Given the description of an element on the screen output the (x, y) to click on. 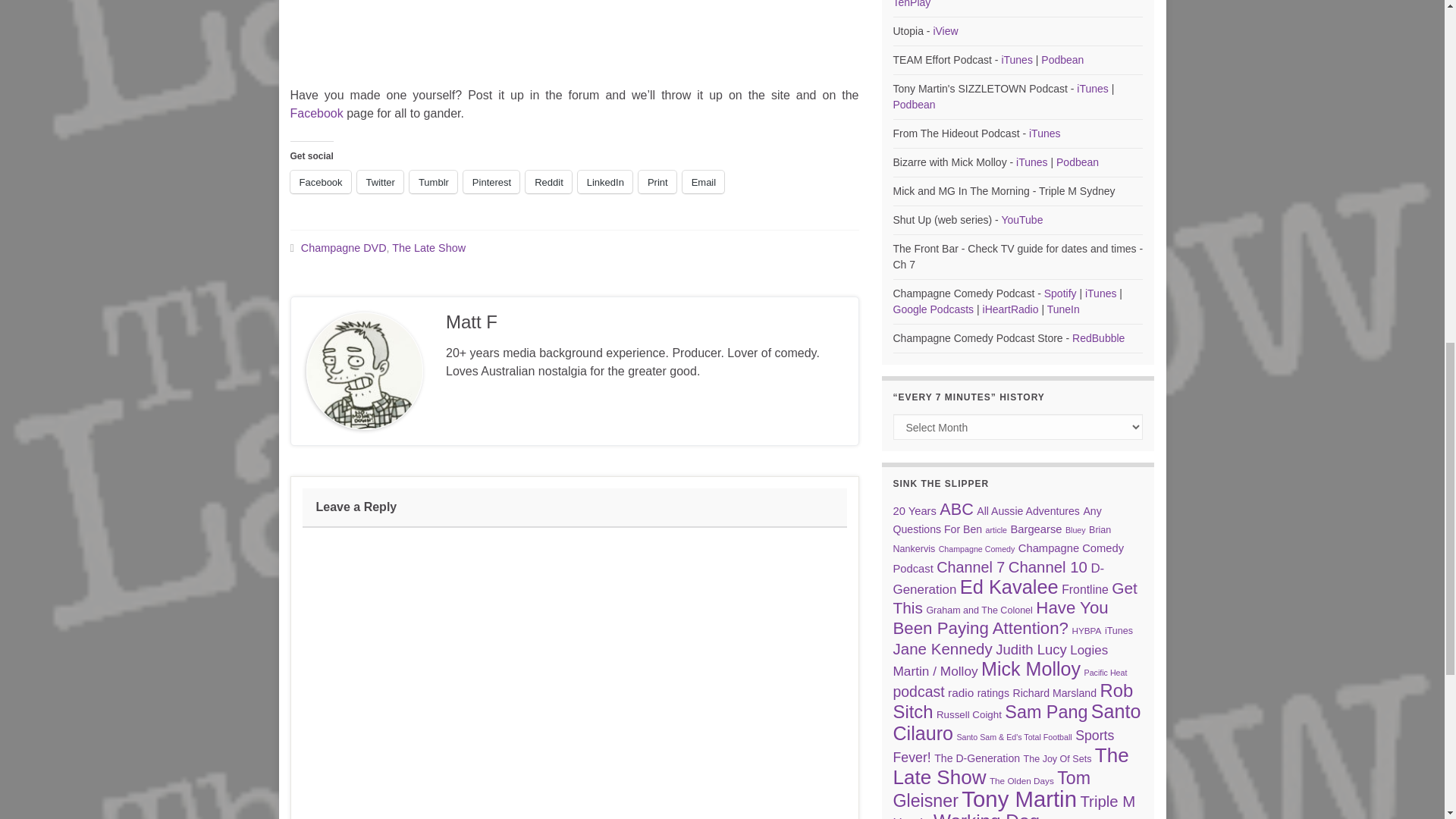
Click to share on LinkedIn (604, 181)
Click to share on Pinterest (491, 181)
Click to share on Tumblr (433, 181)
Click to share on Facebook (319, 181)
Click to share on Twitter (379, 181)
LateShowcover (573, 15)
Click to print (658, 181)
Click to share on Reddit (548, 181)
